Given the description of an element on the screen output the (x, y) to click on. 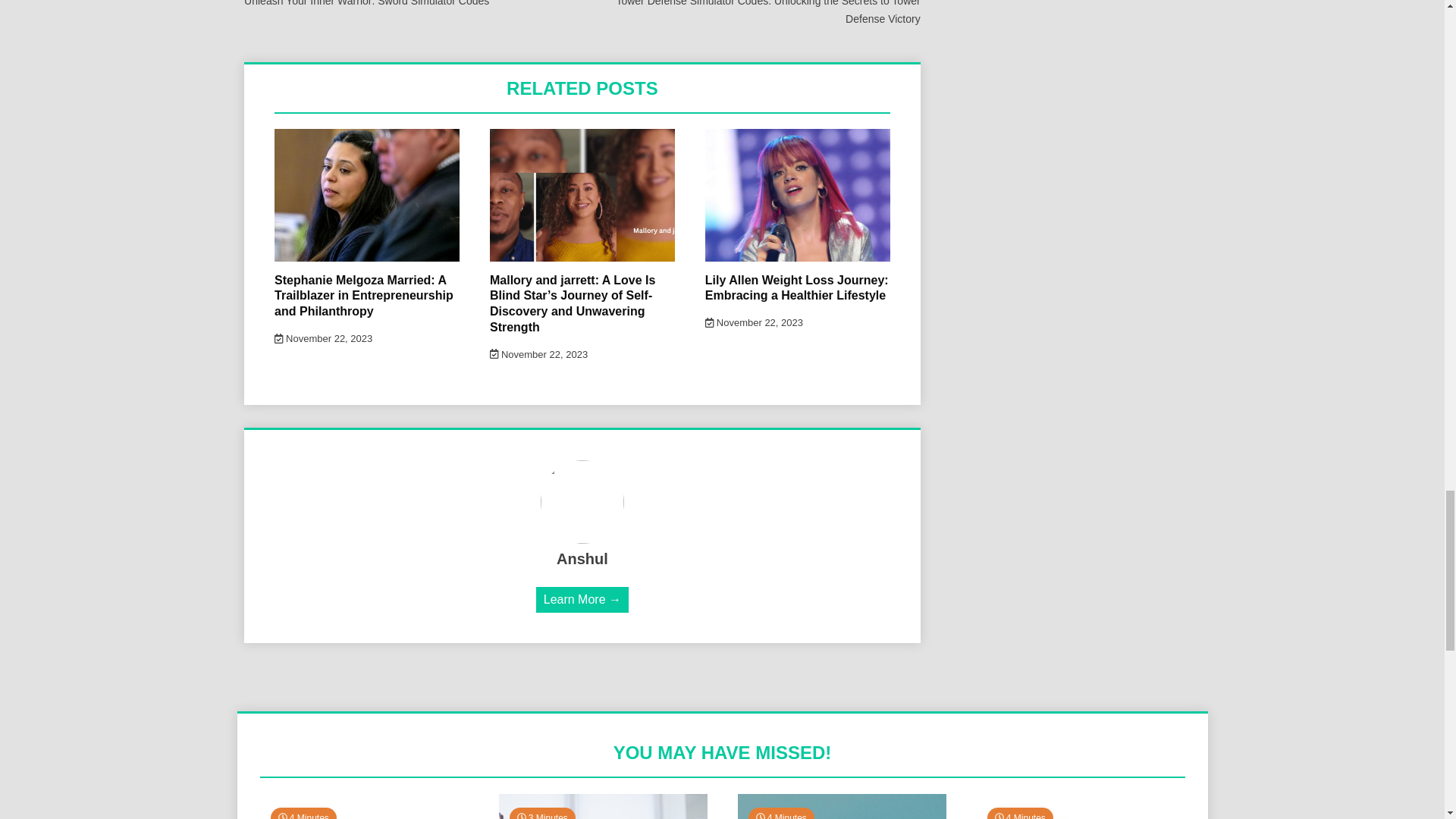
Estimated Reading Time of Article (542, 813)
Estimated Reading Time of Article (302, 813)
November 22, 2023 (753, 322)
Previous: Unleash Your Inner Warrior: Sword Simulator Codes (400, 4)
November 22, 2023 (323, 337)
